Given the description of an element on the screen output the (x, y) to click on. 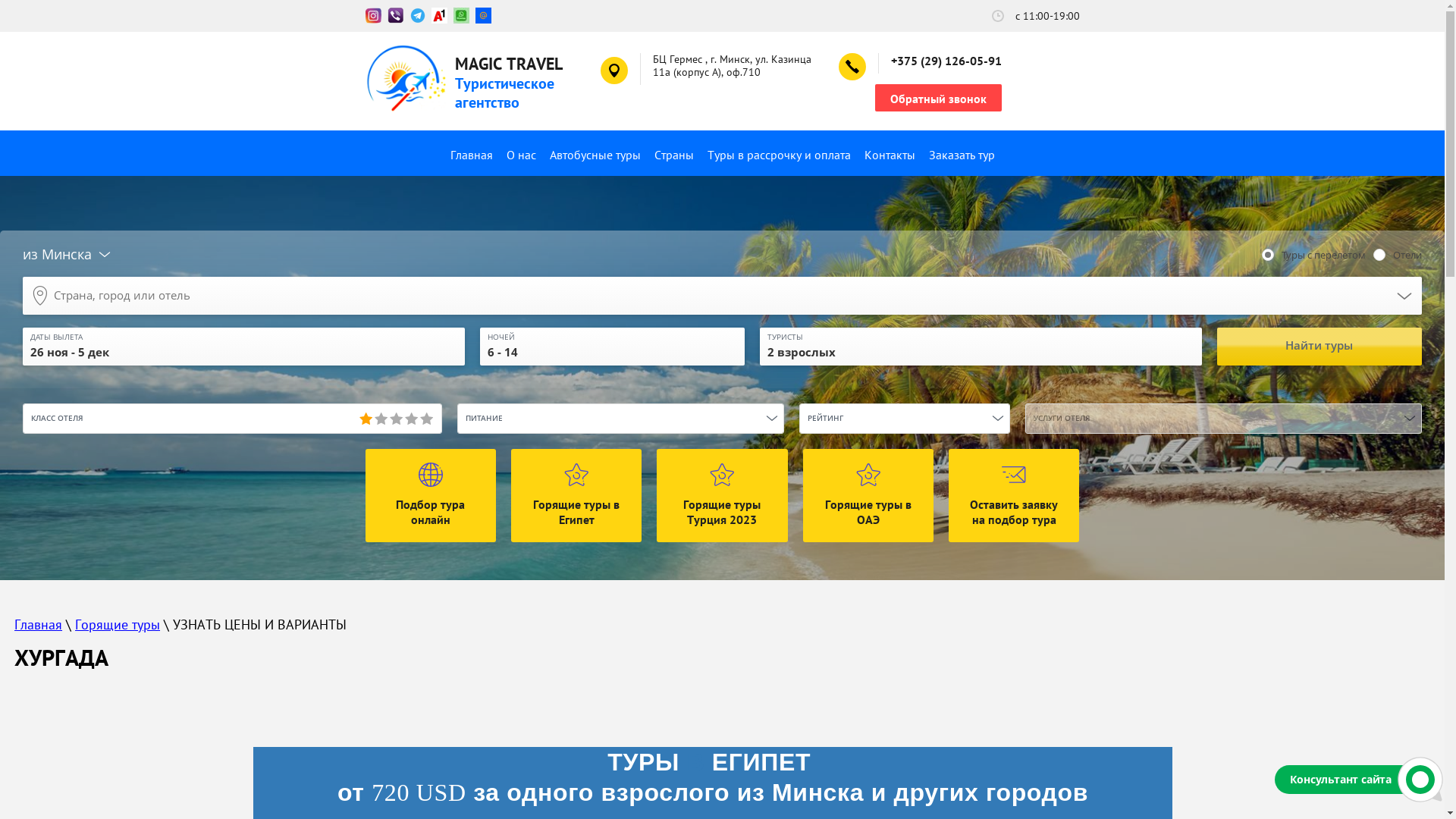
+375 (29) 126-05-91 Element type: text (946, 60)
MAGIC TRAVEL Element type: text (508, 63)
